Given the description of an element on the screen output the (x, y) to click on. 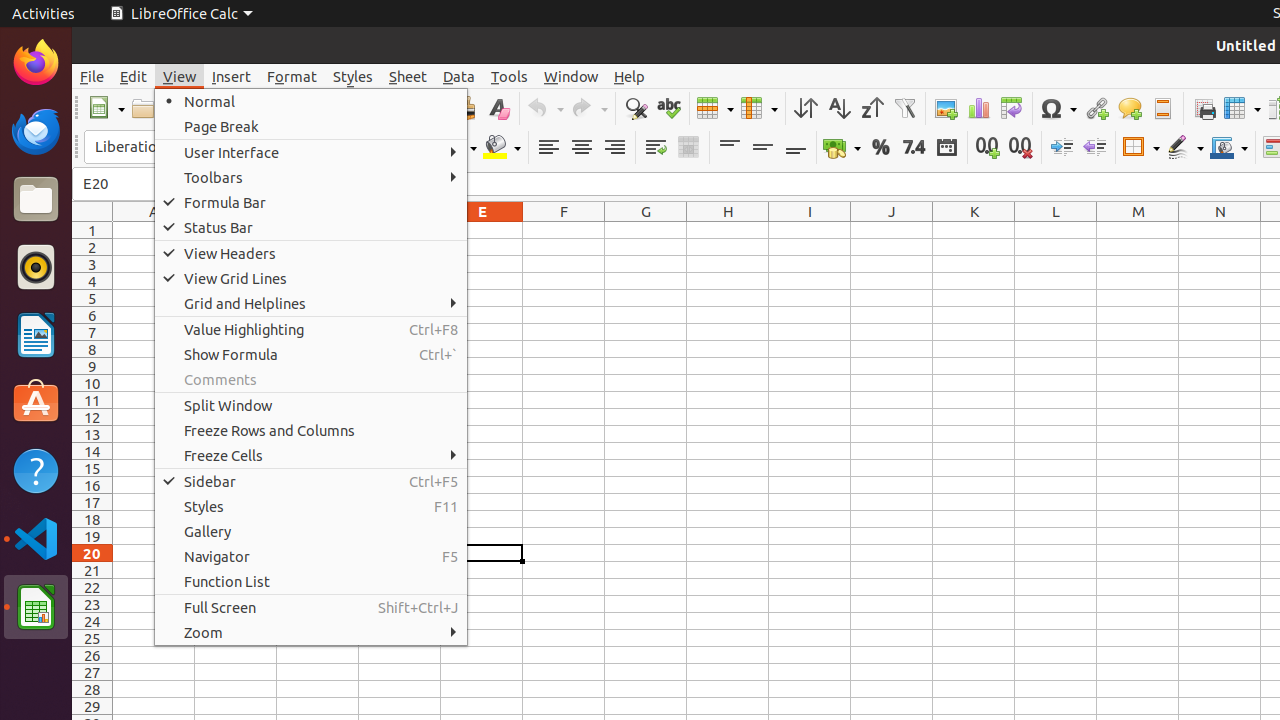
Merge and Center Cells Element type: push-button (688, 147)
Background Color Element type: push-button (502, 147)
Sort Descending Element type: push-button (871, 108)
Headers and Footers Element type: push-button (1162, 108)
Function List Element type: check-menu-item (311, 581)
